Given the description of an element on the screen output the (x, y) to click on. 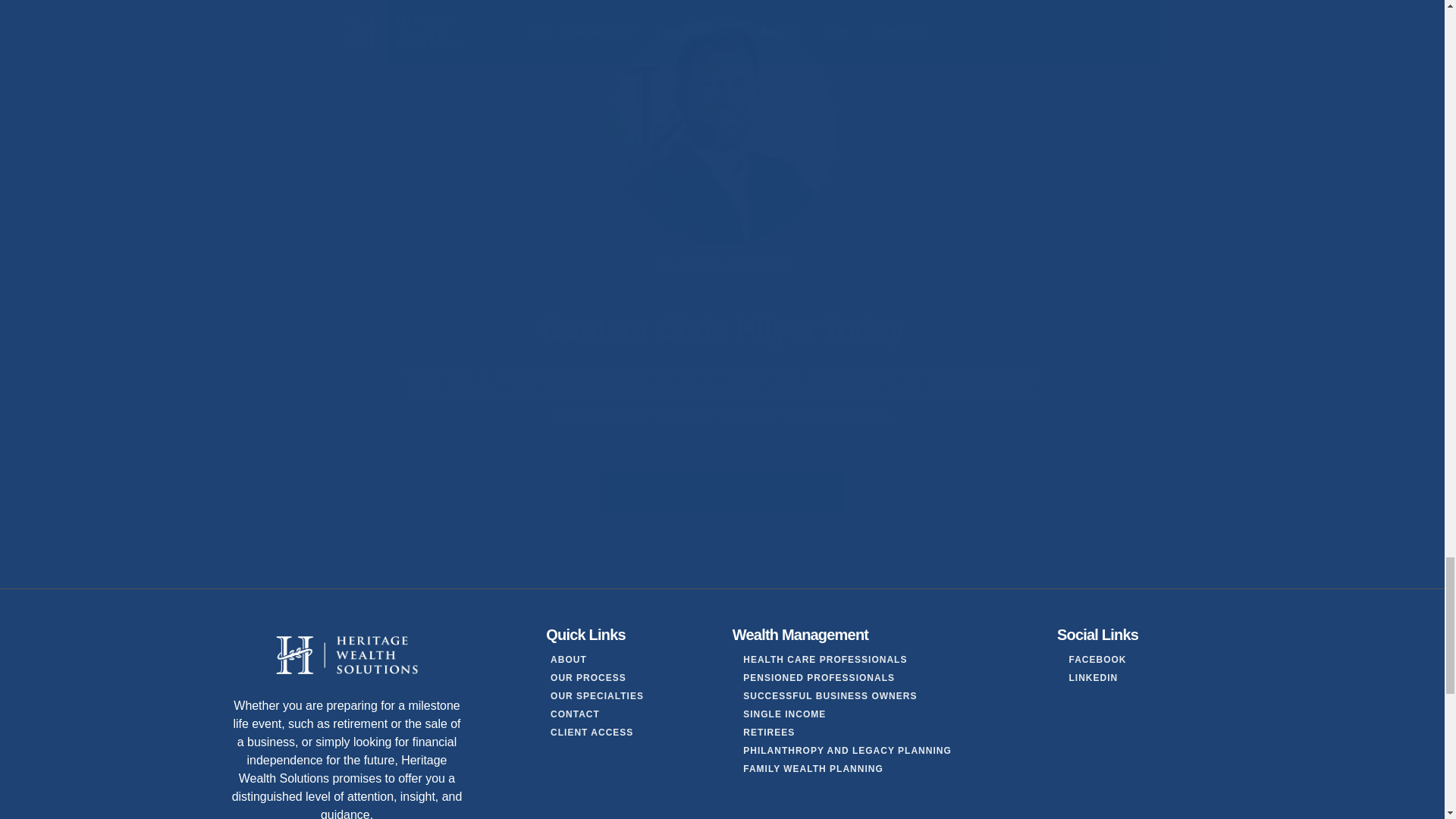
OUR PROCESS (588, 678)
PHILANTHROPY AND LEGACY PLANNING (846, 751)
RETIREES (768, 733)
CONTACT (574, 714)
LINKEDIN (1093, 678)
FACEBOOK (1096, 660)
SCHEDULE AN APPOINTMENT (721, 491)
SINGLE INCOME (783, 714)
HEALTH CARE PROFESSIONALS (824, 660)
SUCCESSFUL BUSINESS OWNERS (829, 696)
